Given the description of an element on the screen output the (x, y) to click on. 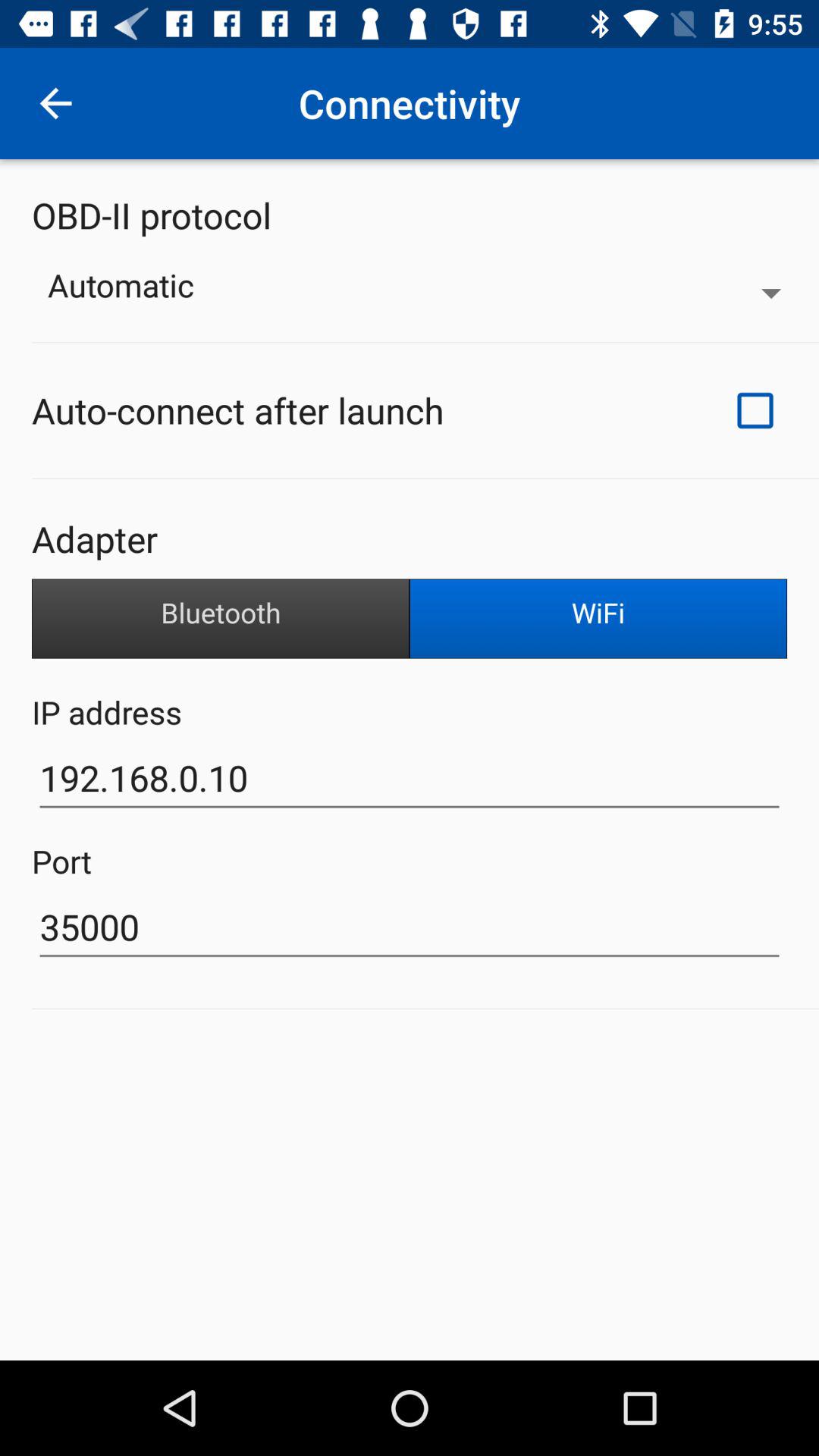
select the text written in blue box (598, 619)
